Given the description of an element on the screen output the (x, y) to click on. 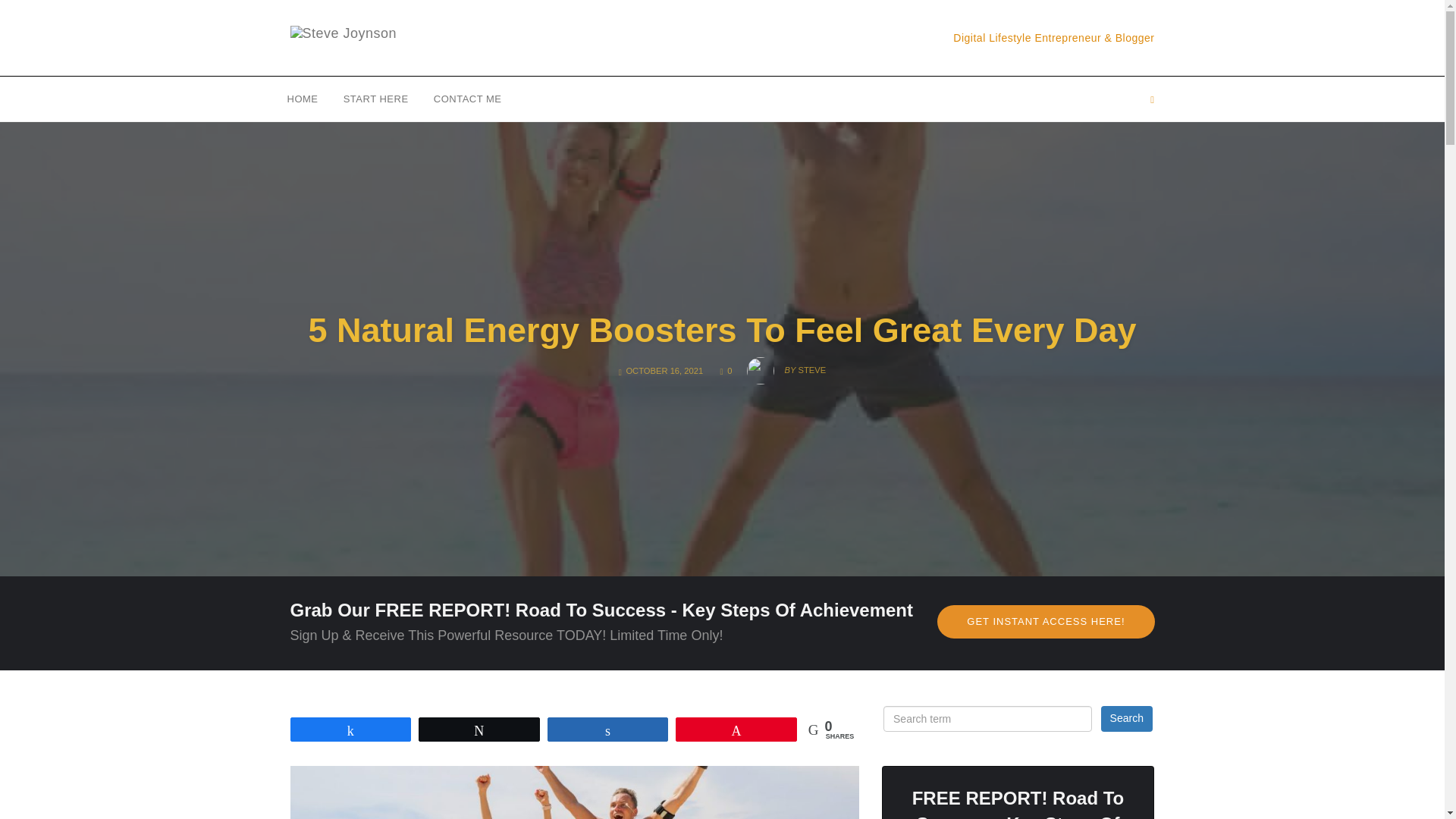
CONTACT ME (468, 97)
5 Natural Energy Boosters To Feel Great Every Day (726, 370)
Steve Joynson (721, 330)
GET INSTANT ACCESS HERE! (342, 37)
HOME (1045, 621)
Search (302, 97)
BY STEVE (1126, 718)
START HERE (785, 365)
Search (375, 97)
